Given the description of an element on the screen output the (x, y) to click on. 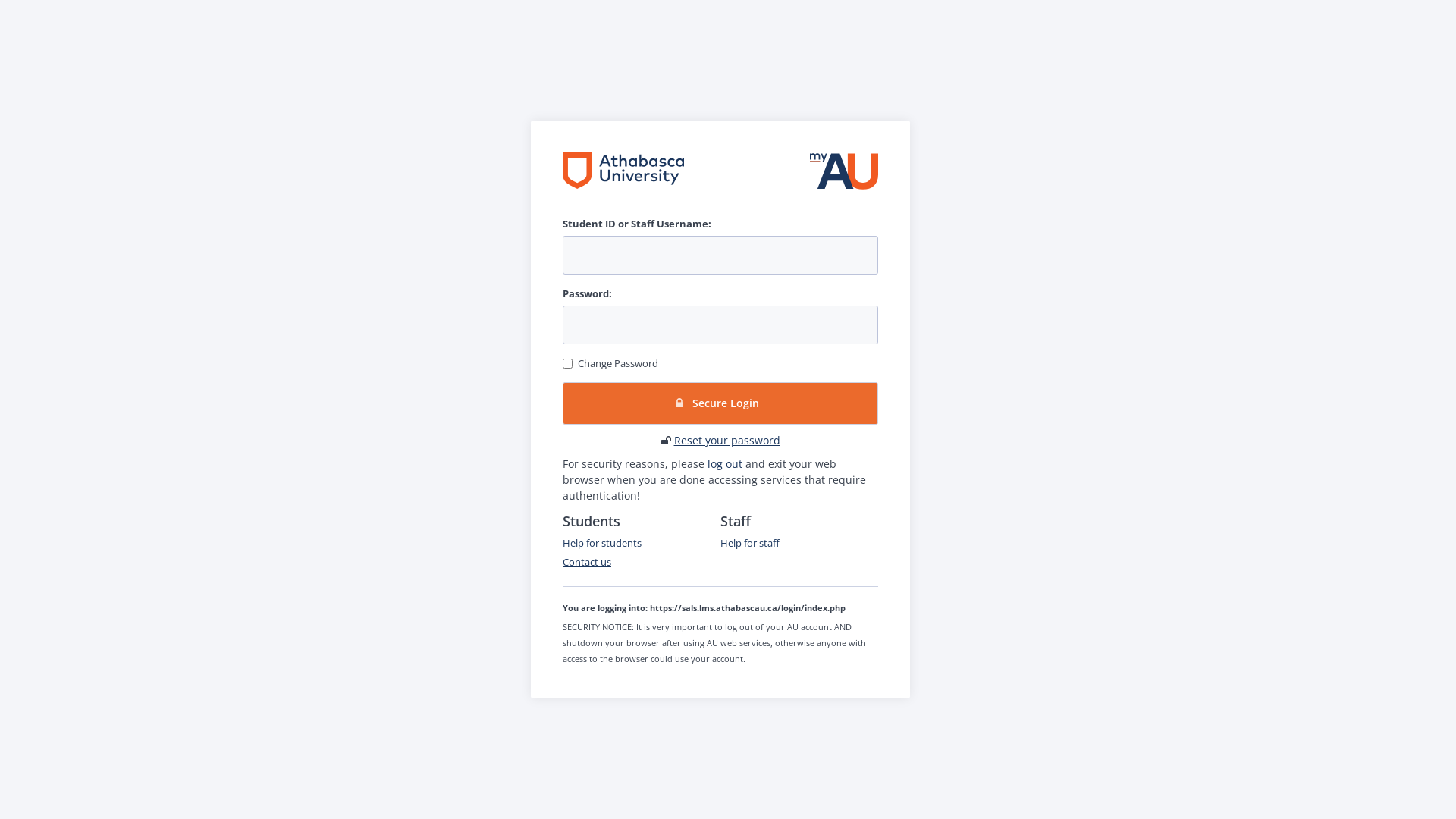
log out Element type: text (724, 463)
Contact us Element type: text (586, 561)
Help for staff Element type: text (749, 542)
Secure Login Element type: text (720, 403)
Reset your password Element type: text (726, 440)
Help for students Element type: text (601, 542)
